Given the description of an element on the screen output the (x, y) to click on. 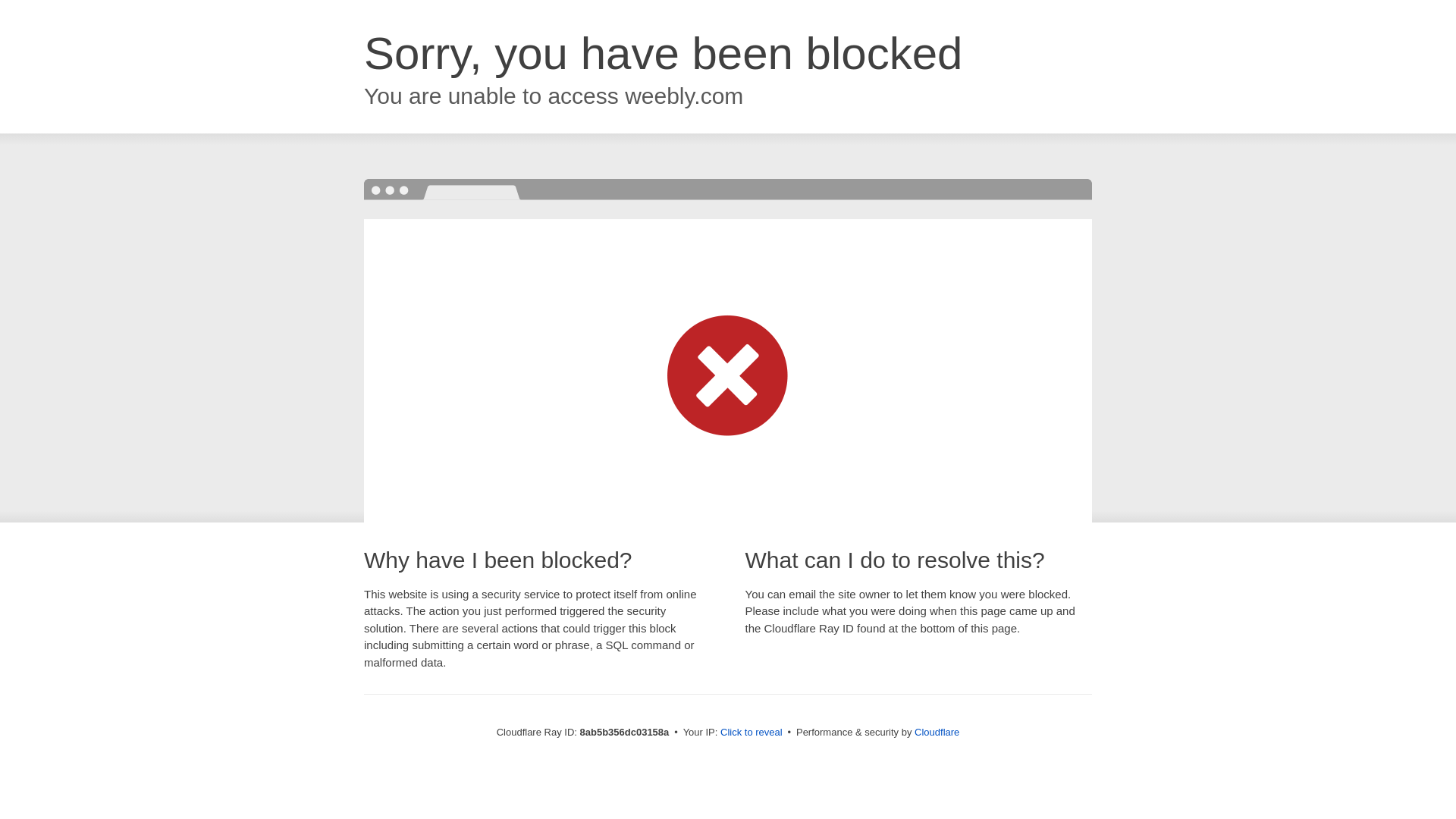
Cloudflare (936, 731)
Click to reveal (751, 732)
